Given the description of an element on the screen output the (x, y) to click on. 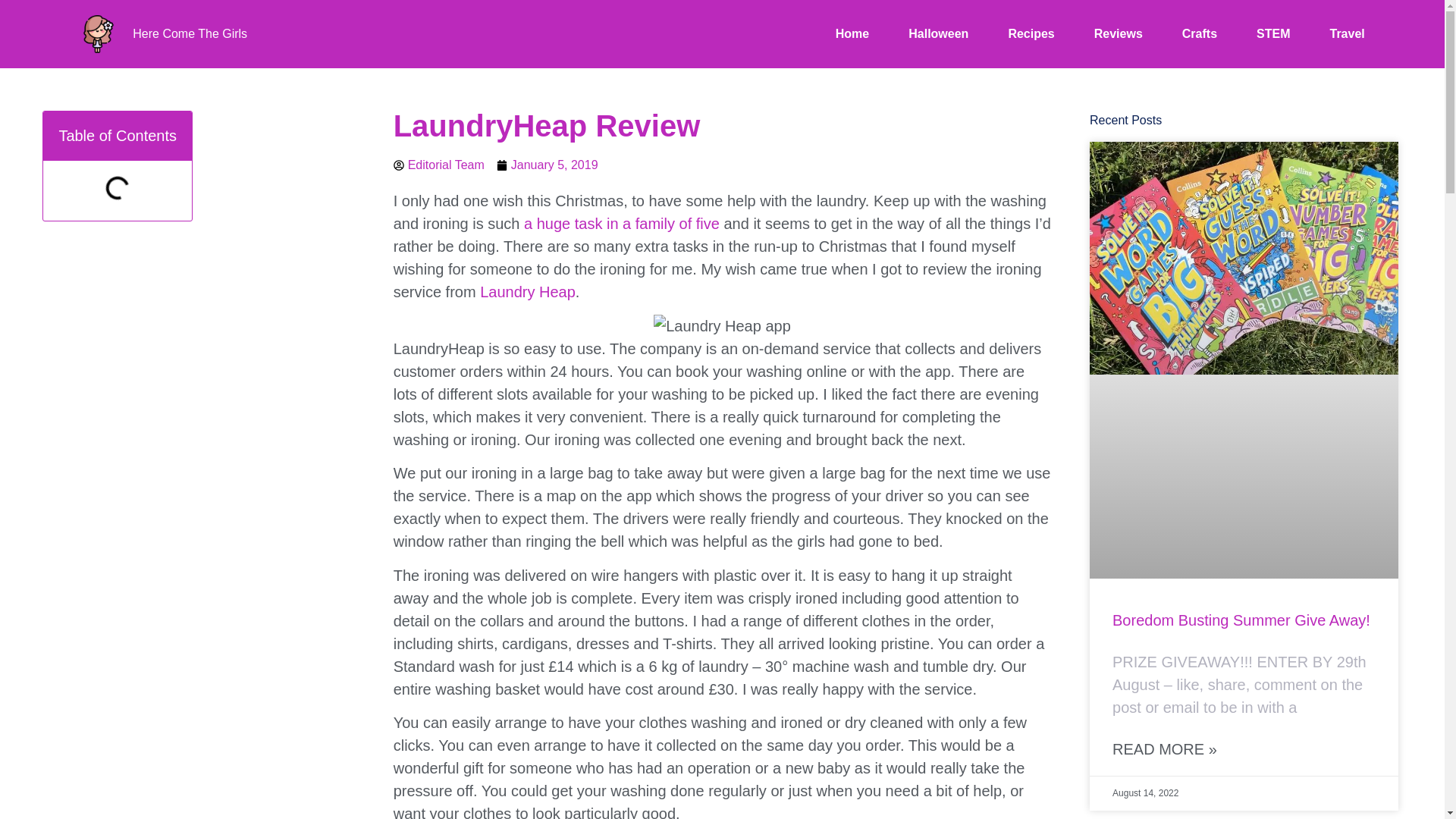
Home (852, 34)
Travel (1346, 34)
Crafts (1199, 34)
Boredom Busting Summer Give Away! (1241, 619)
Reviews (1118, 34)
Editorial Team (438, 165)
STEM (1273, 34)
Halloween (938, 34)
January 5, 2019 (547, 165)
Laundry Heap (527, 291)
